Given the description of an element on the screen output the (x, y) to click on. 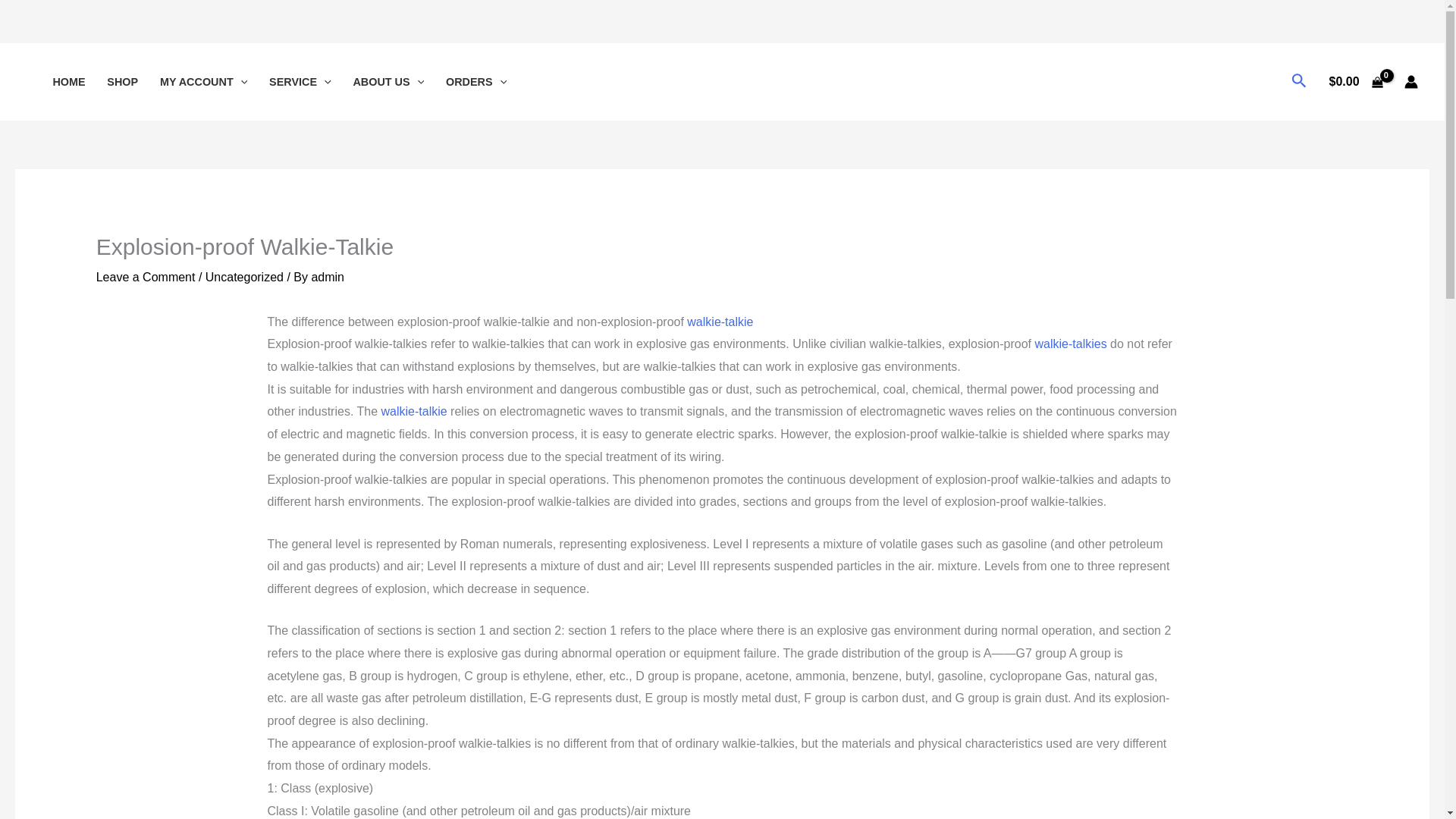
admin (327, 277)
View all posts by admin (327, 277)
walkie-talkie (413, 410)
HOME (69, 81)
ORDERS (476, 81)
walkie-talkies (1069, 343)
MY ACCOUNT (204, 81)
SERVICE (300, 81)
Uncategorized (244, 277)
Leave a Comment (145, 277)
ABOUT US (388, 81)
SHOP (122, 81)
walkie-talkie (719, 321)
